Given the description of an element on the screen output the (x, y) to click on. 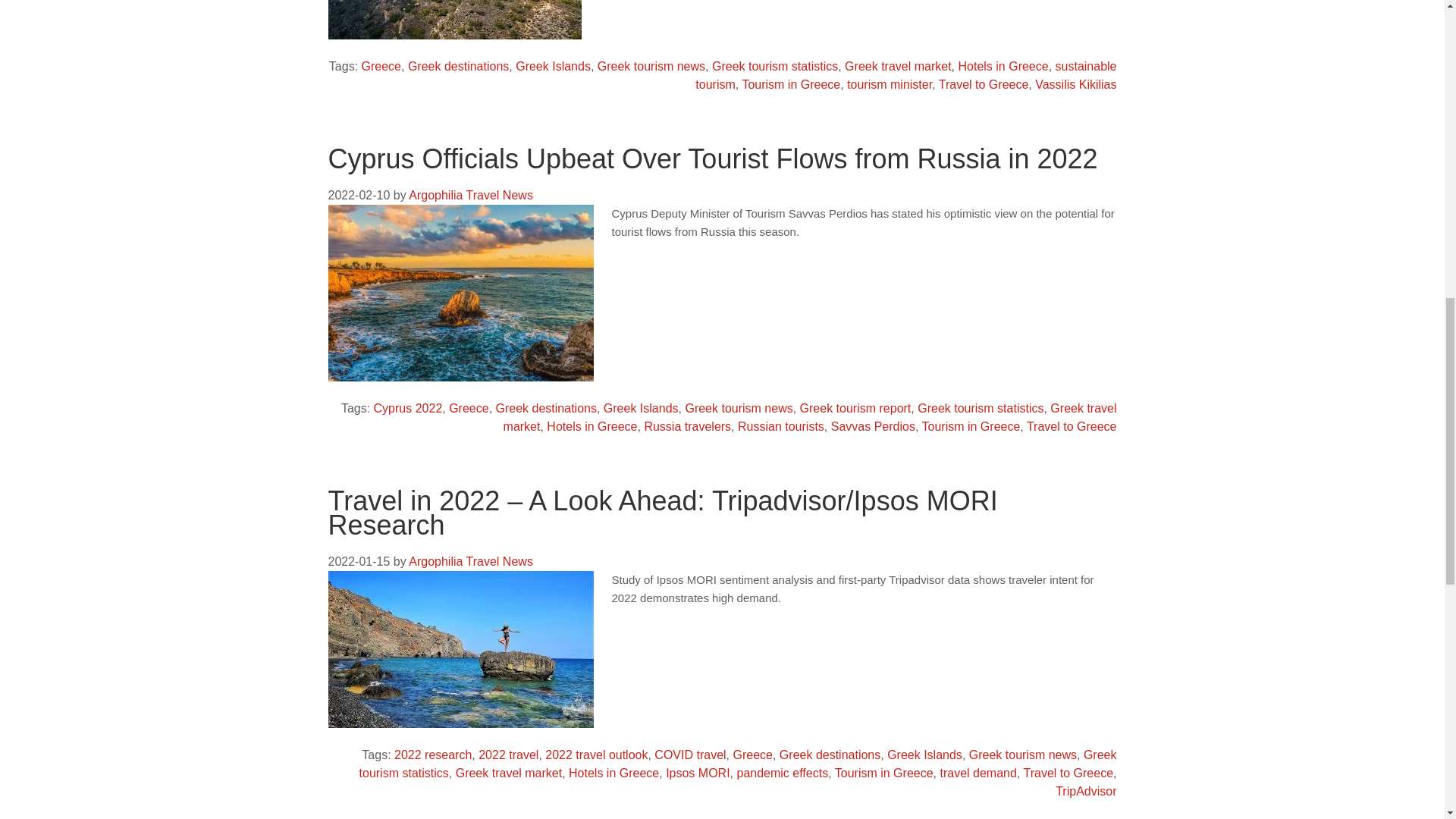
Greece (381, 65)
Greek destinations (457, 65)
Greek Islands (553, 65)
Greek tourism news (650, 65)
